Given the description of an element on the screen output the (x, y) to click on. 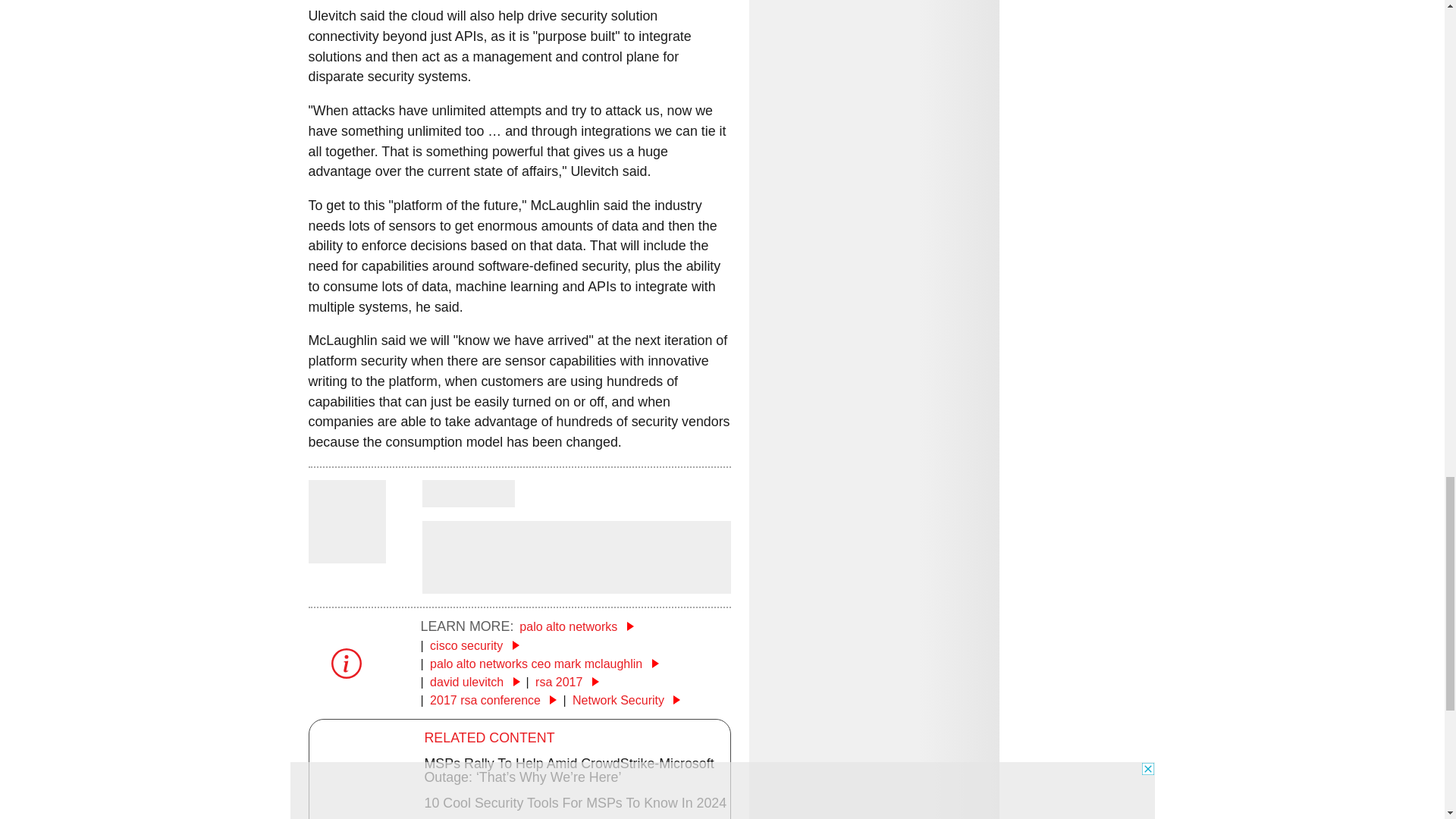
10 Cool Security Tools For MSPs To Know In 2024 (575, 802)
cisco security (473, 645)
palo alto networks ceo mark mclaughlin (544, 663)
AUTHOR NAME (467, 492)
2017 rsa conference (492, 699)
rsa 2017 (566, 681)
Author Name (346, 552)
cisco security (473, 645)
palo alto networks (576, 626)
Network Security (625, 699)
palo alto networks ceo mark mclaughlin (544, 663)
2017 rsa conference (492, 699)
rsa 2017 (566, 681)
Author Name (467, 492)
david ulevitch (474, 681)
